Given the description of an element on the screen output the (x, y) to click on. 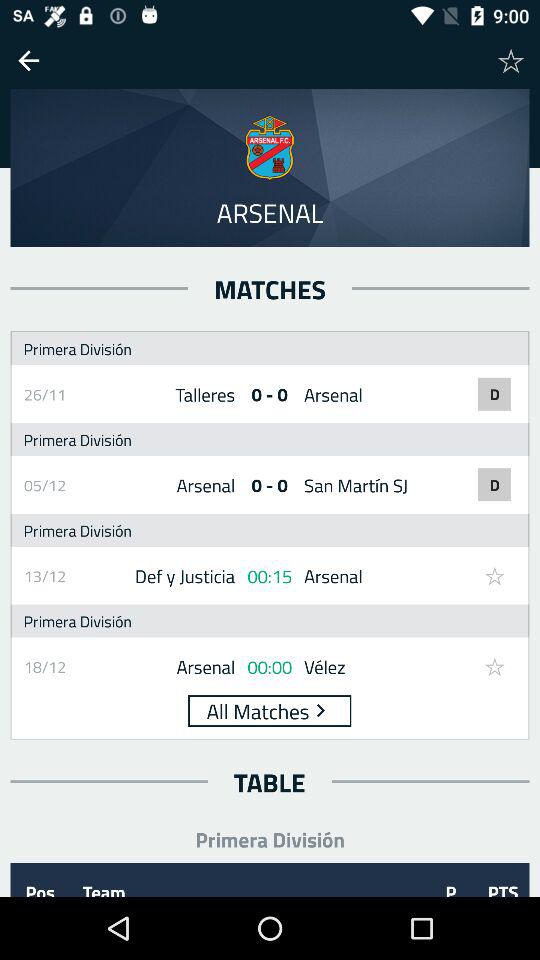
turn on item at the top left corner (28, 60)
